Given the description of an element on the screen output the (x, y) to click on. 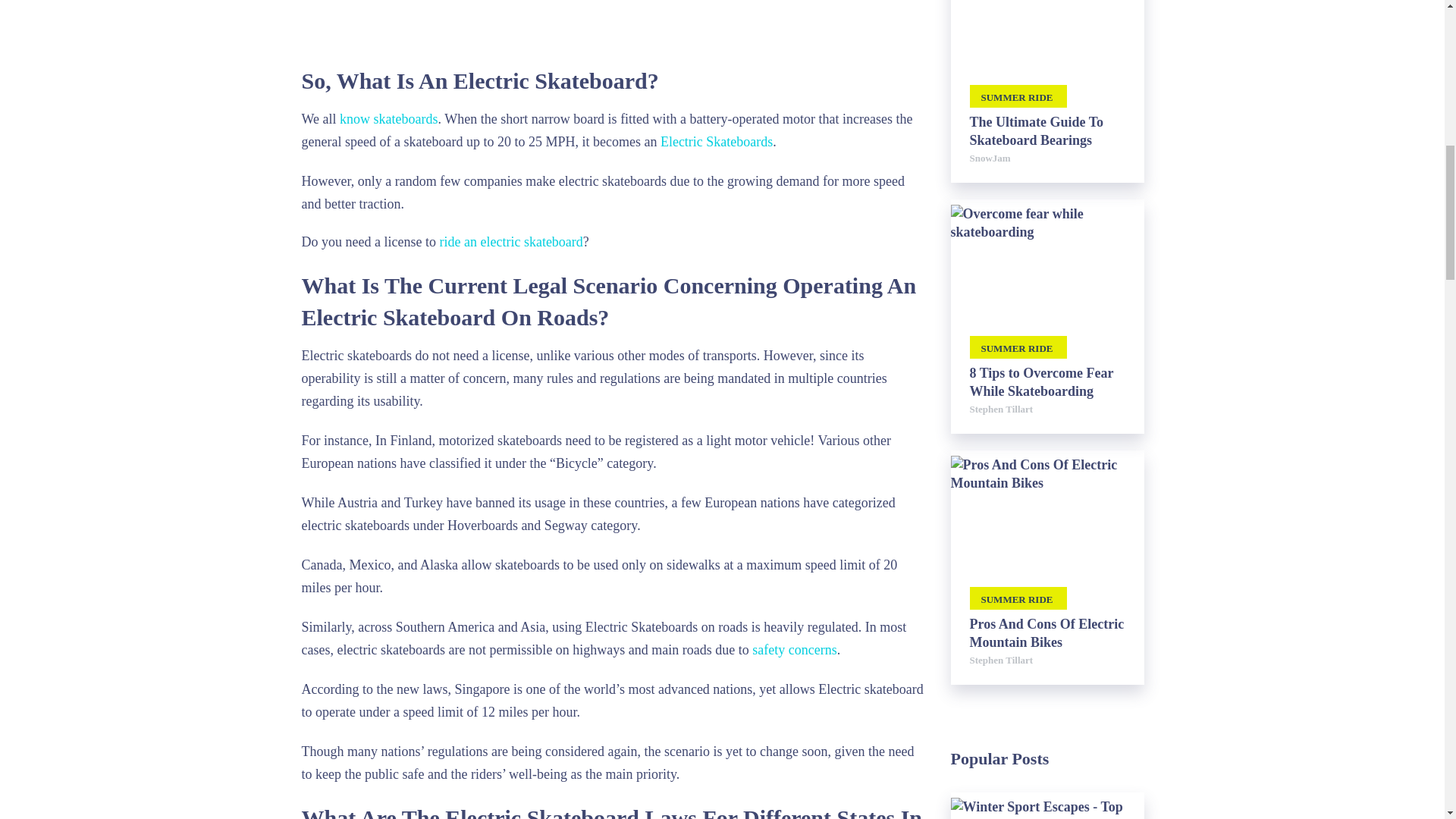
Electric Skateboard Laws (612, 24)
View all posts in Summer Ride (1018, 96)
The Ultimate Guide To Skateboard Bearings (1046, 131)
